Given the description of an element on the screen output the (x, y) to click on. 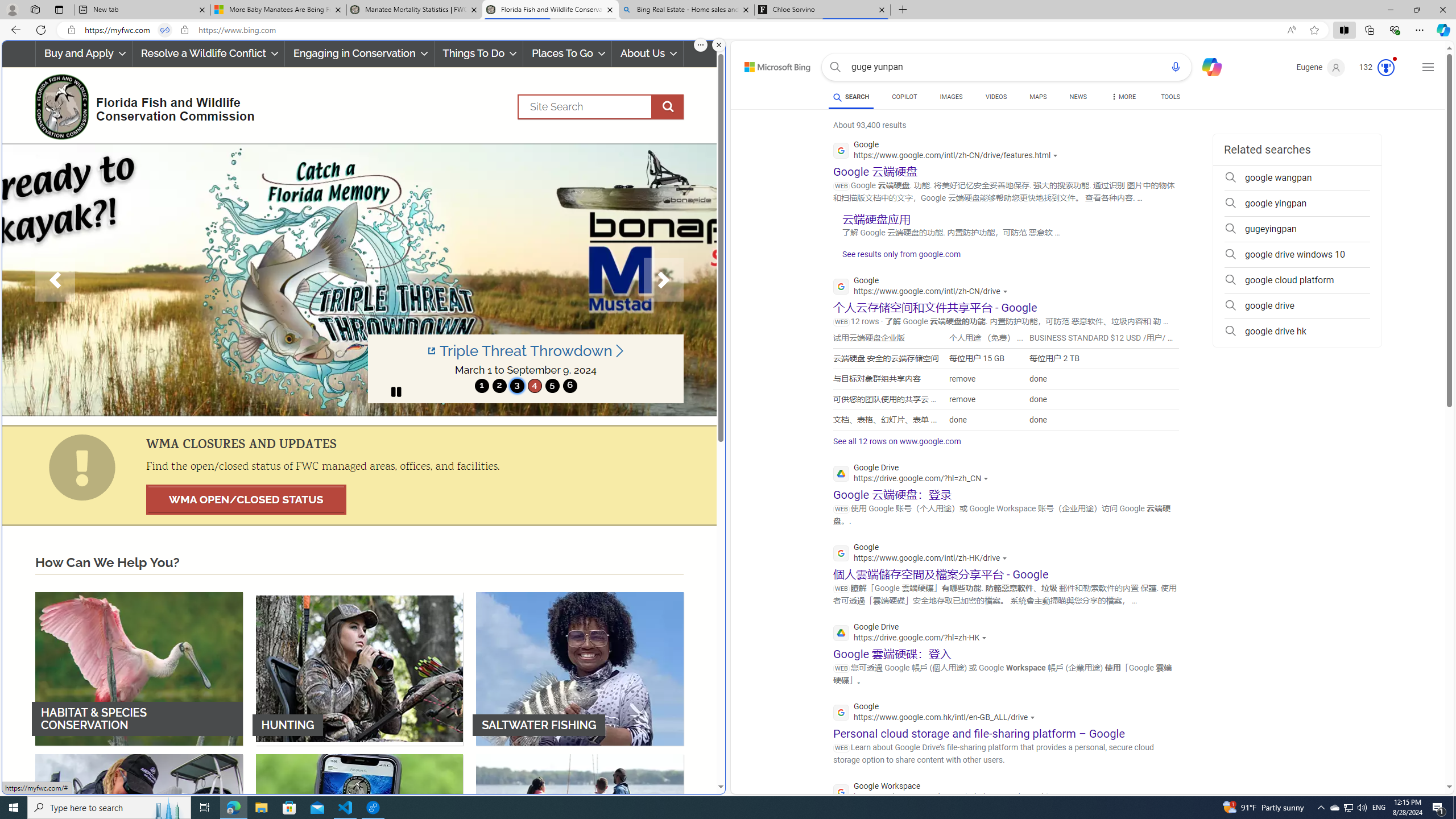
Close tab (881, 9)
move to slide 6 (569, 385)
Google Drive (912, 634)
Google Workspace (950, 793)
Actions for this site (1061, 797)
Eugene (1320, 67)
5 (551, 385)
Tab actions menu (58, 9)
6 (569, 385)
Back (13, 29)
Buy and Apply (84, 53)
Places To Go (566, 53)
NEWS (1078, 98)
